Given the description of an element on the screen output the (x, y) to click on. 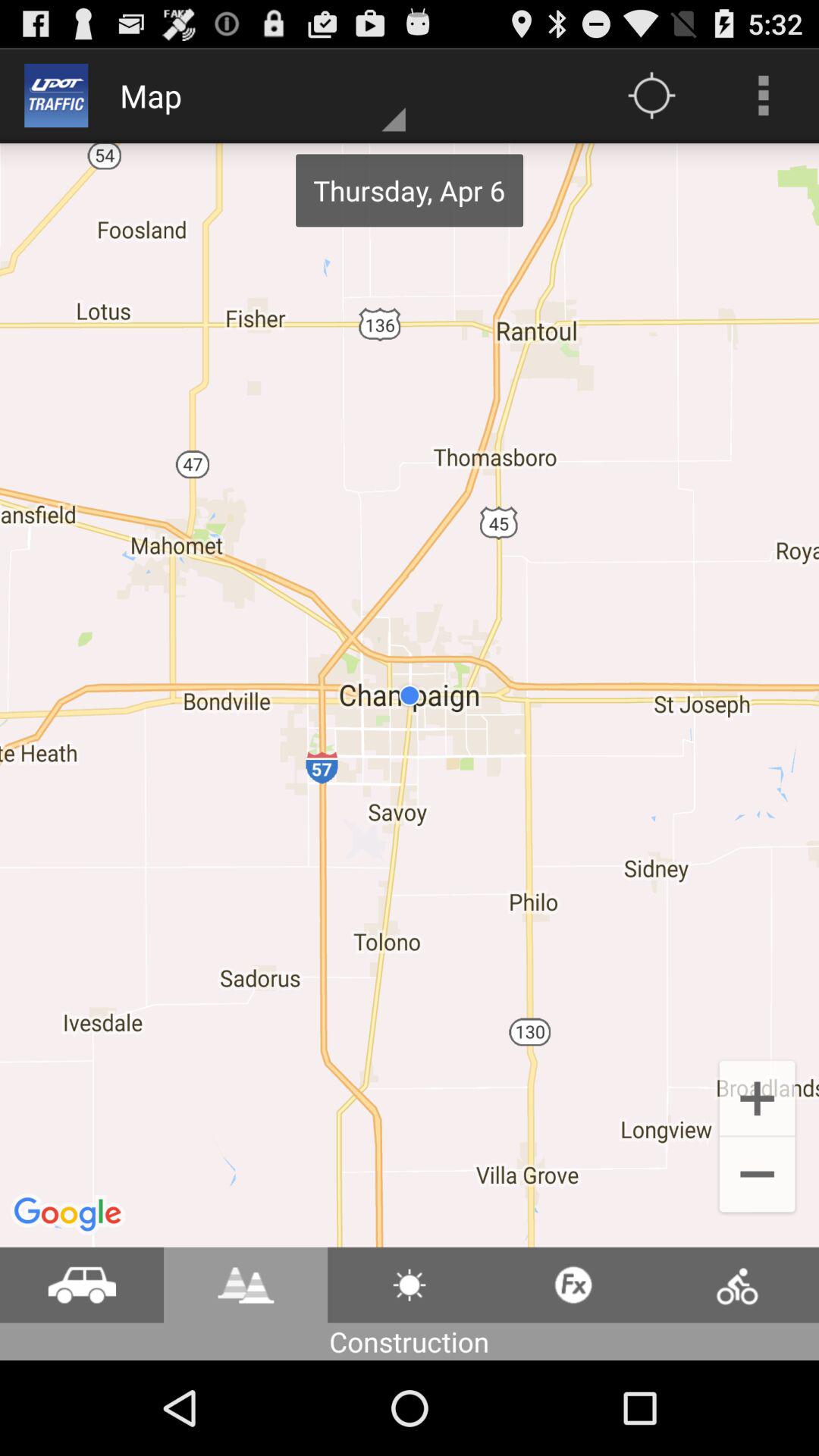
construction page (409, 1284)
